Given the description of an element on the screen output the (x, y) to click on. 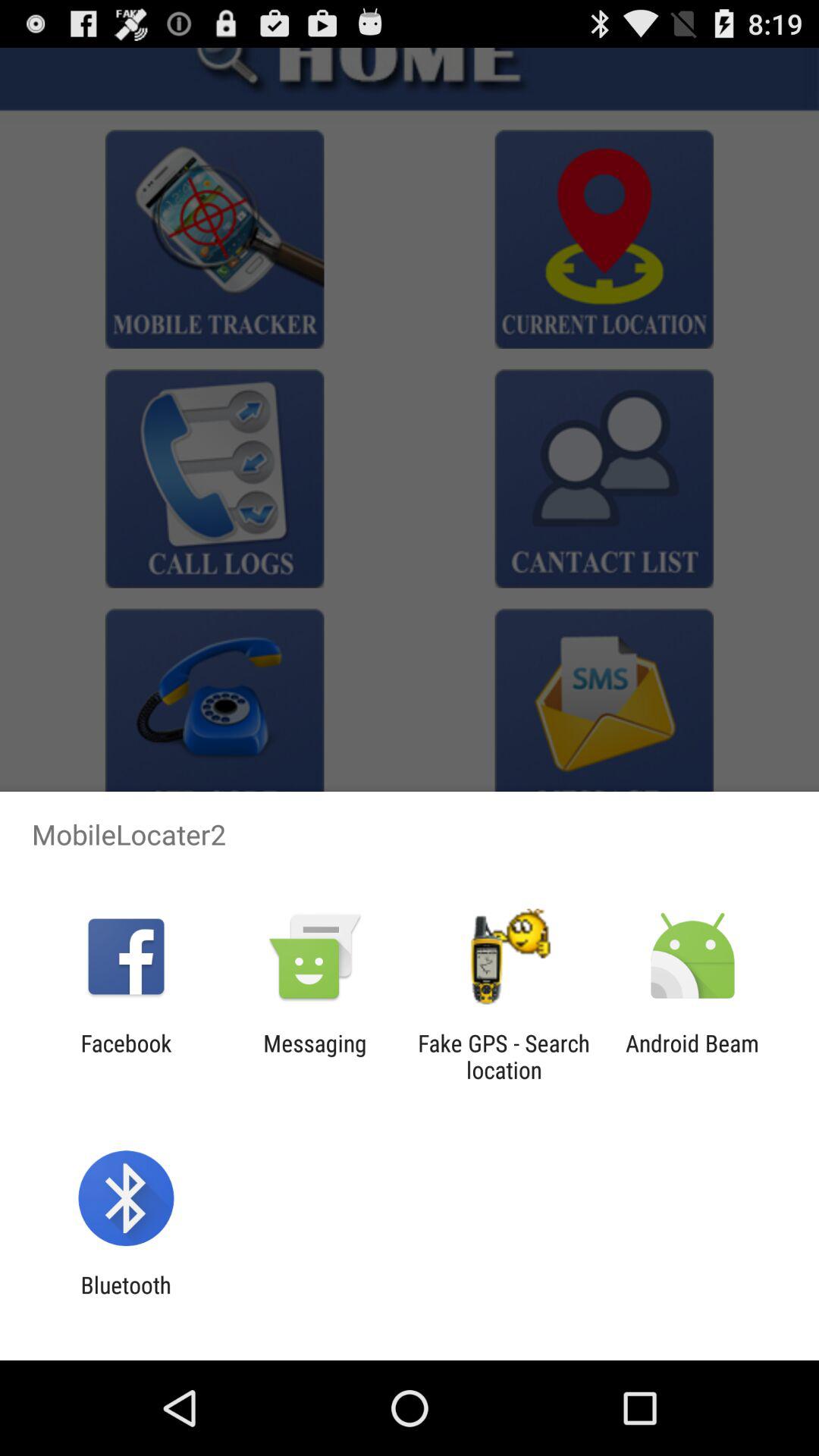
turn off item next to android beam app (503, 1056)
